Given the description of an element on the screen output the (x, y) to click on. 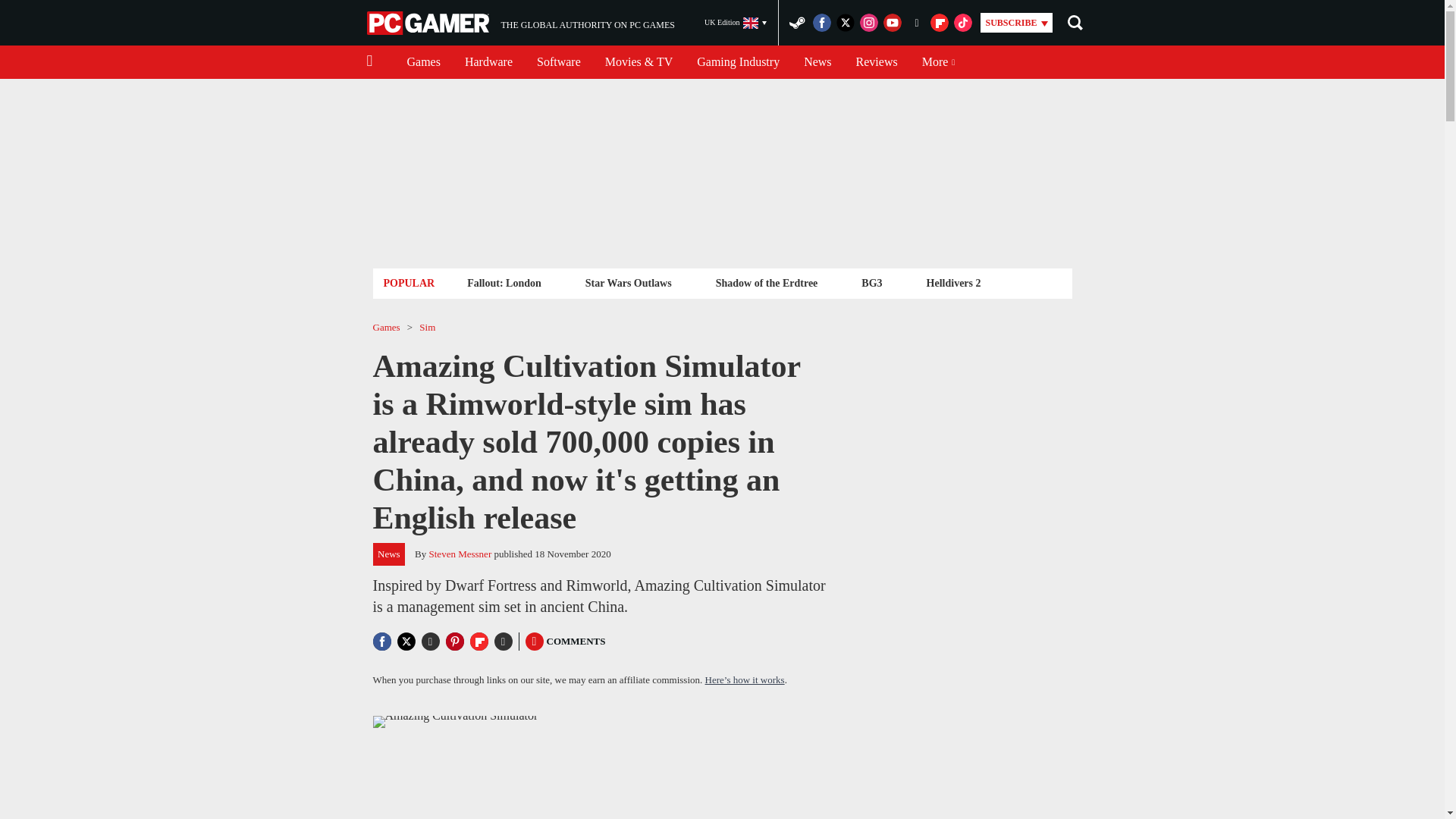
Fallout: London (504, 282)
Star Wars Outlaws (628, 282)
Games (422, 61)
UK Edition (735, 22)
Reviews (520, 22)
Gaming Industry (877, 61)
Hardware (738, 61)
News (488, 61)
PC Gamer (817, 61)
